Given the description of an element on the screen output the (x, y) to click on. 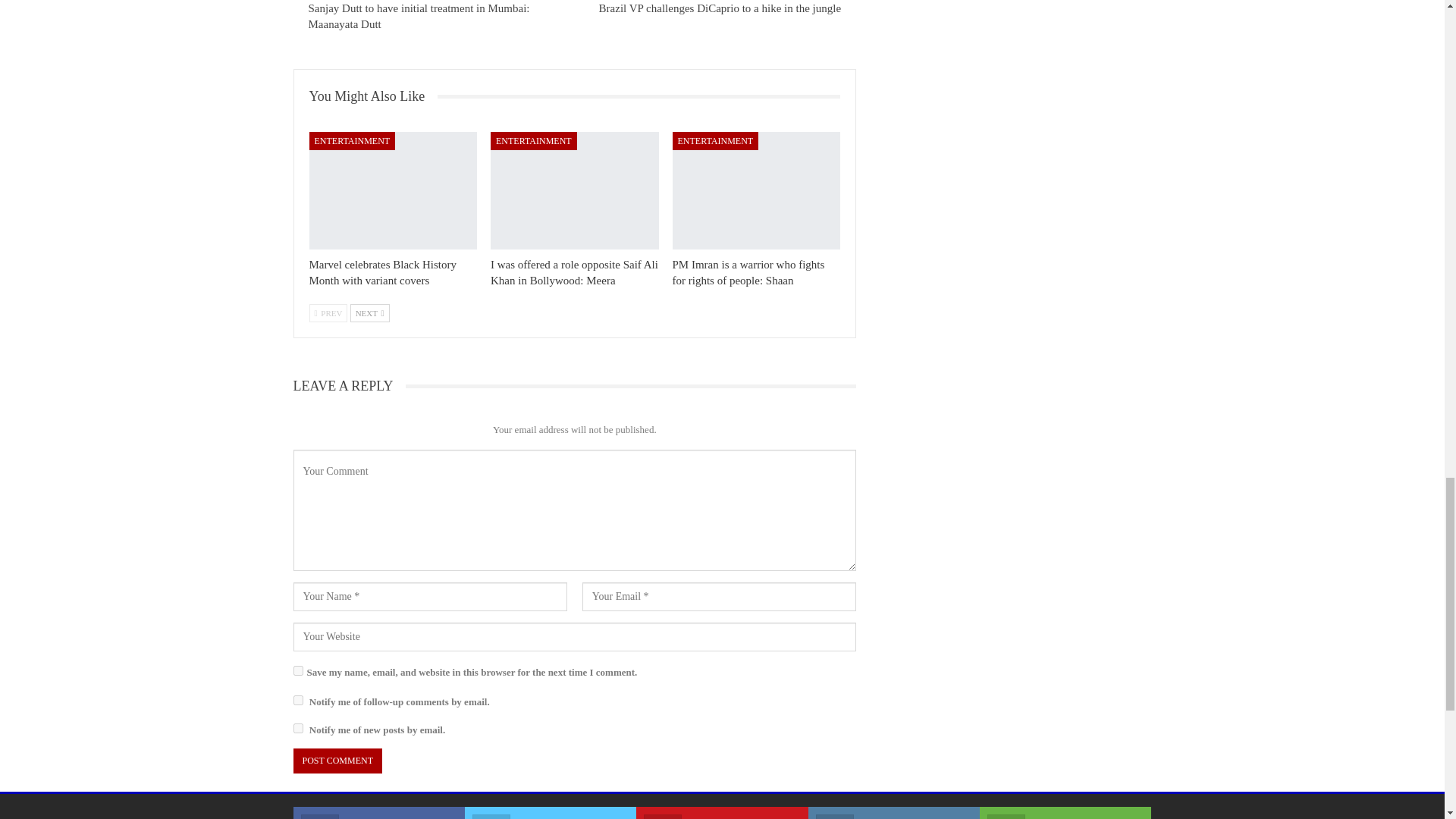
Marvel celebrates Black History Month with variant covers (382, 272)
Previous (327, 312)
Marvel celebrates Black History Month with variant covers (392, 190)
subscribe (297, 700)
PM Imran is a warrior who fights for rights of people: Shaan (756, 190)
PM Imran is a warrior who fights for rights of people: Shaan (748, 272)
subscribe (297, 728)
Post Comment (336, 760)
